Given the description of an element on the screen output the (x, y) to click on. 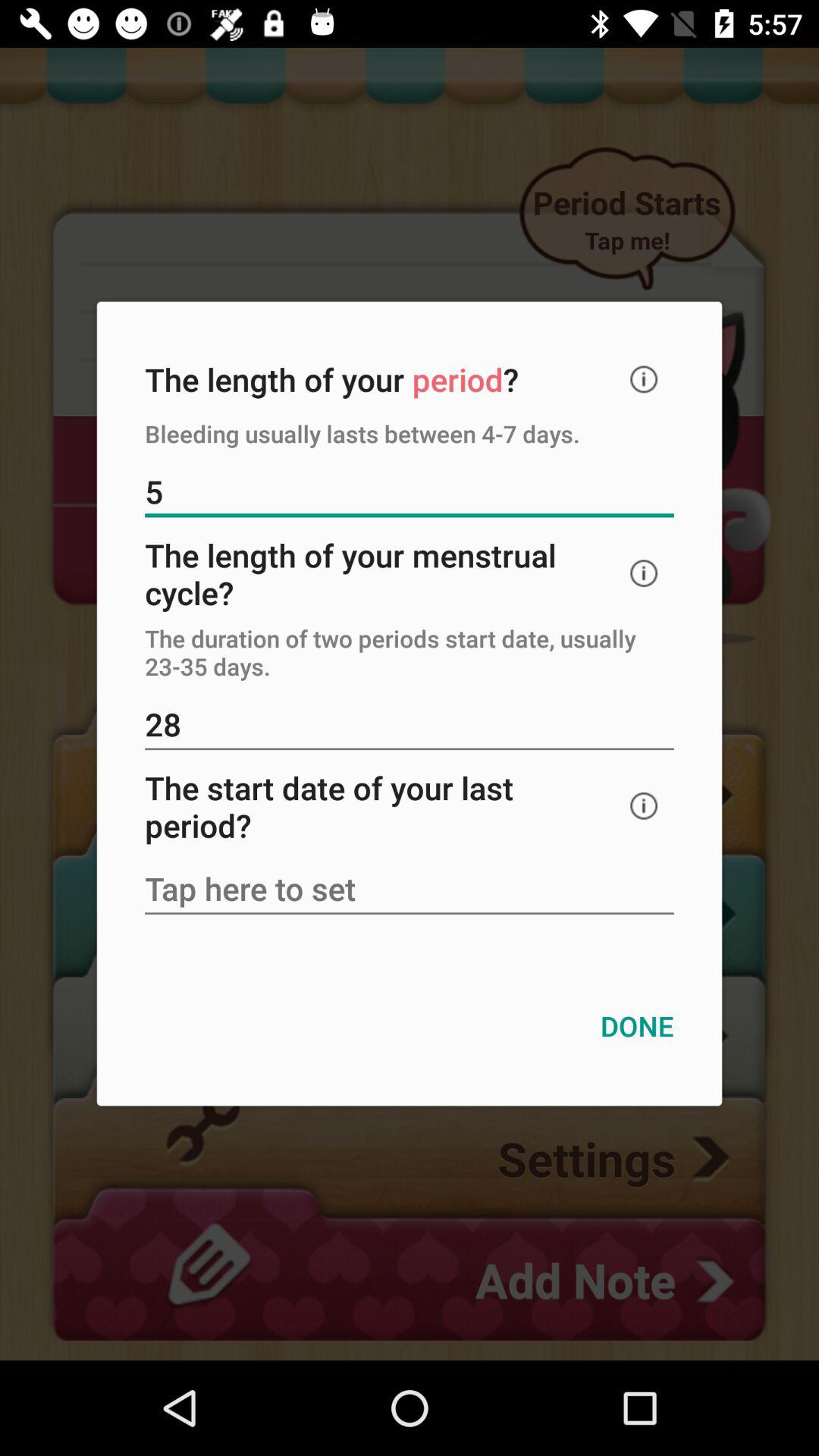
tap the 28 (409, 726)
